Given the description of an element on the screen output the (x, y) to click on. 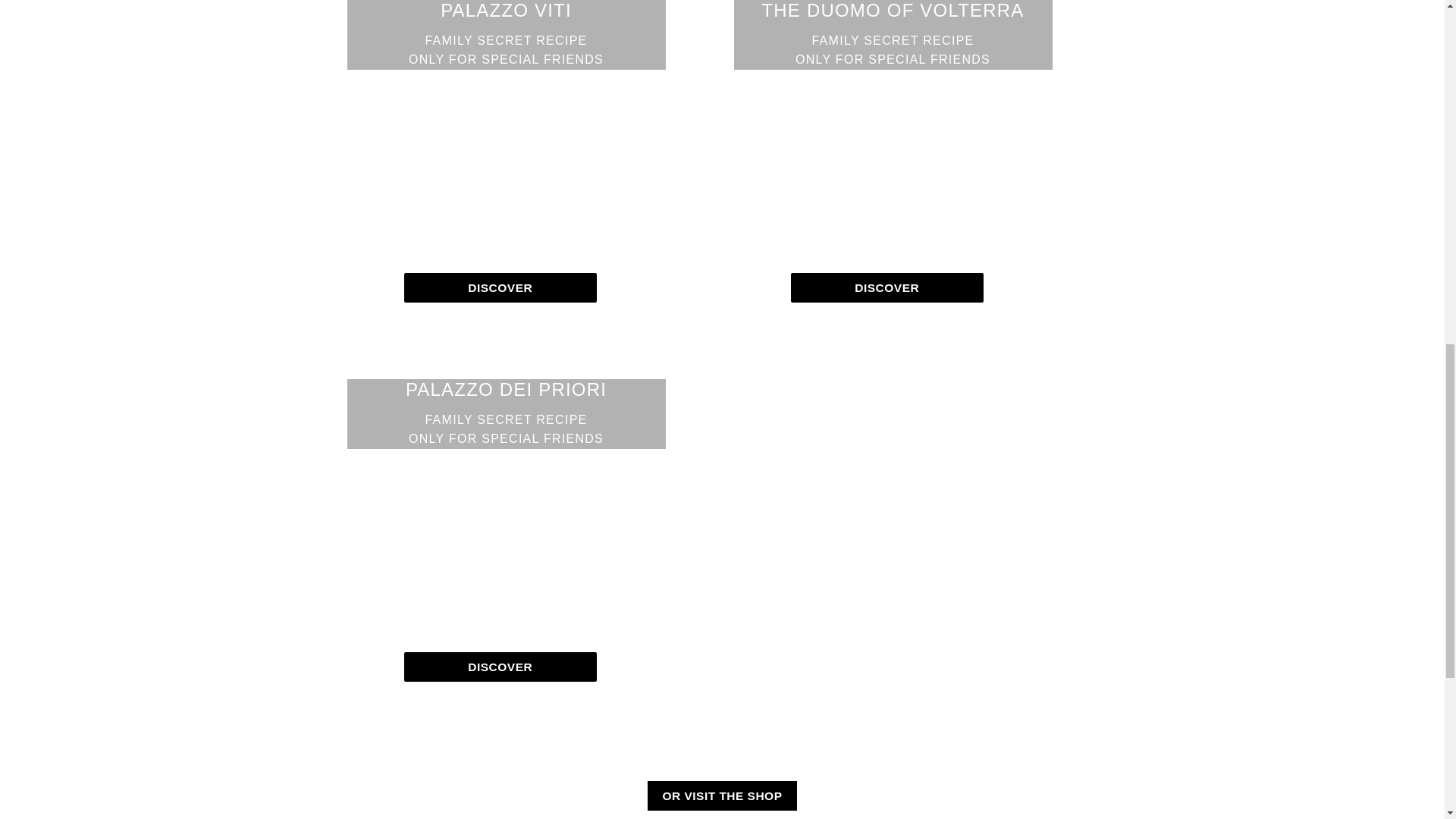
OR VISIT THE SHOP (506, 34)
DISCOVER (721, 795)
DISCOVER (886, 287)
DISCOVER (499, 287)
